Given the description of an element on the screen output the (x, y) to click on. 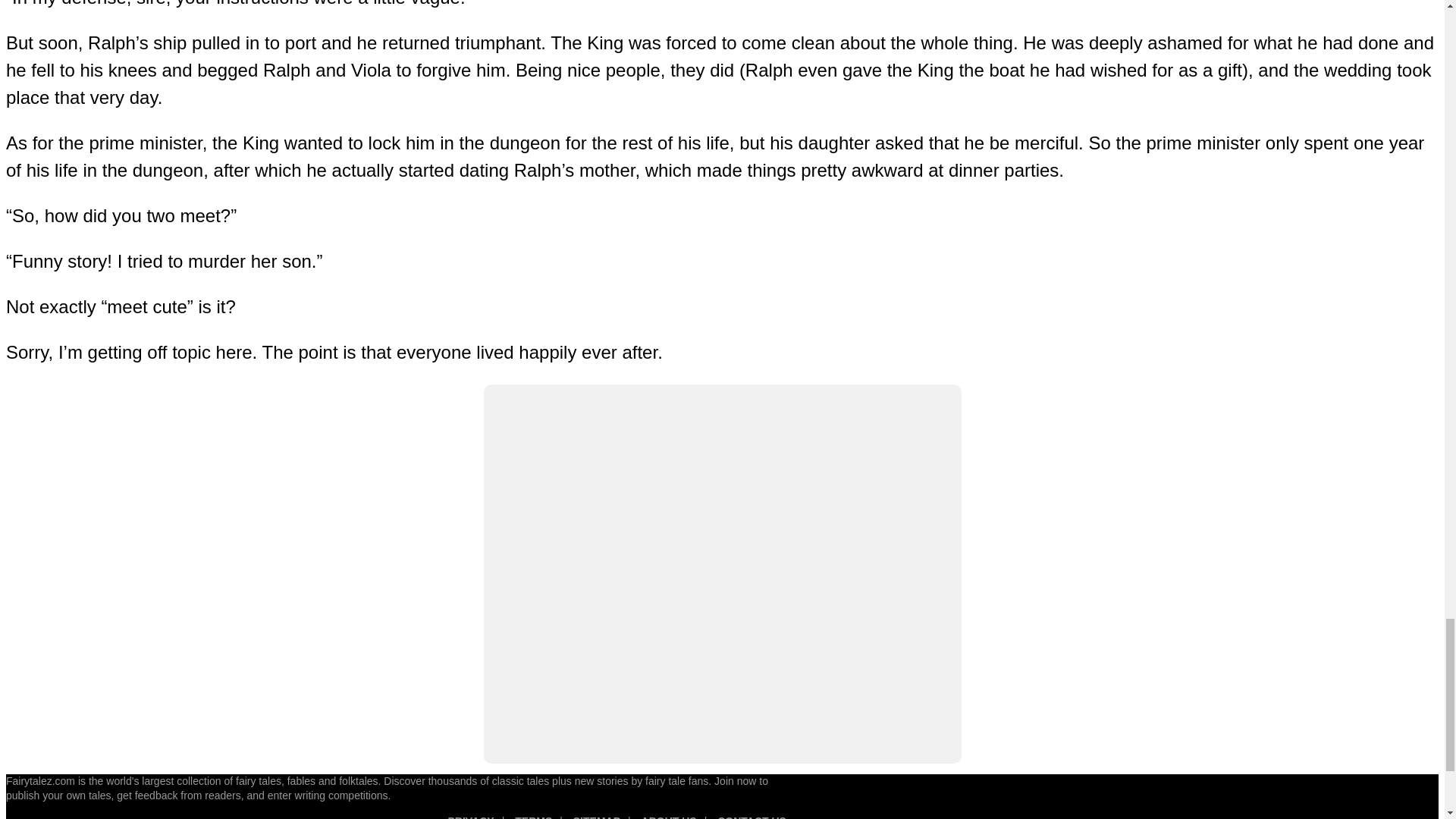
CONTACT US (755, 816)
Privacy (471, 816)
ABOUT US (669, 816)
PRIVACY (471, 816)
Fairytalez.com (40, 780)
Sitemap (596, 816)
SITEMAP (596, 816)
TERMS (533, 816)
